Given the description of an element on the screen output the (x, y) to click on. 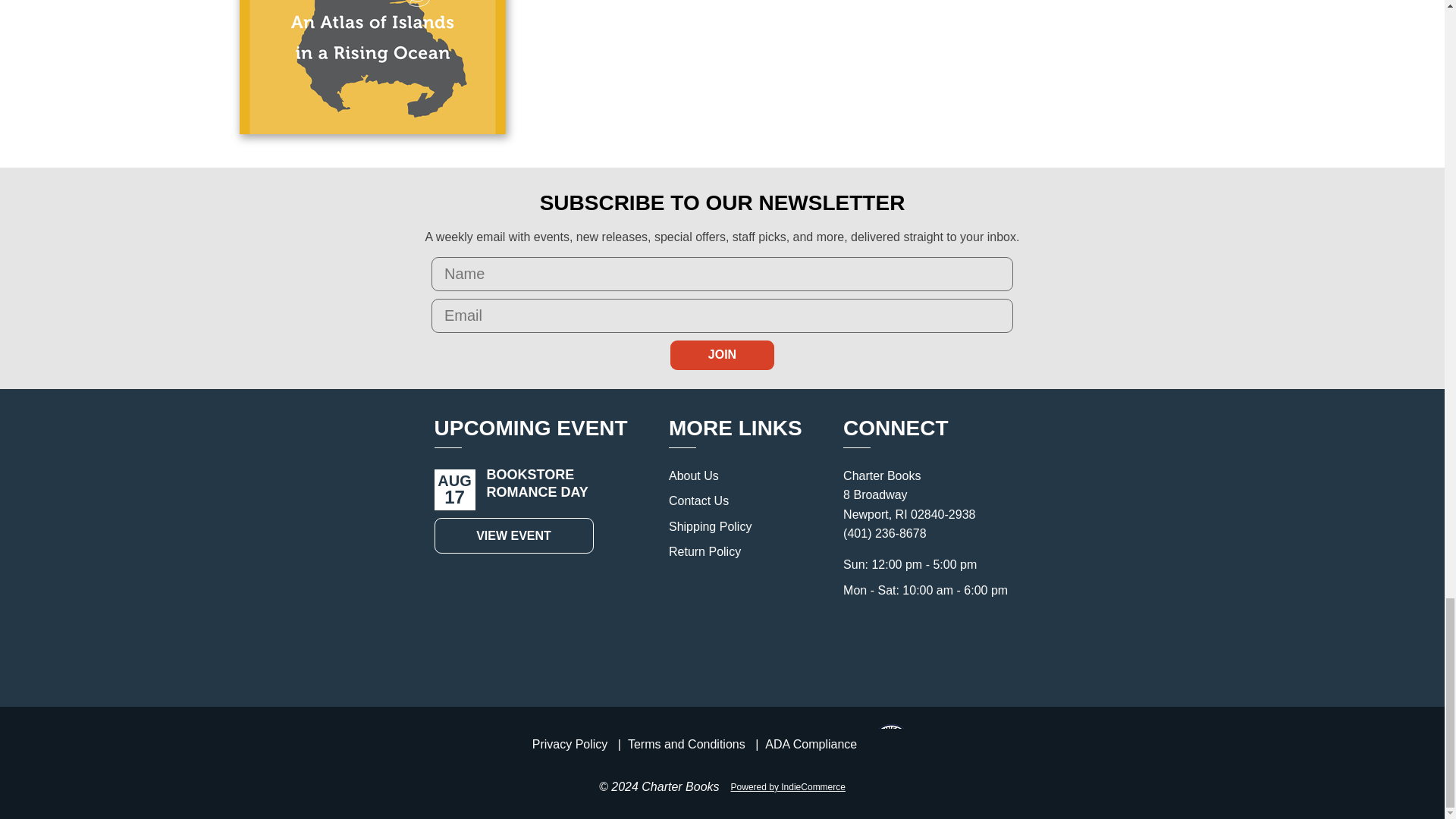
Connect with Tik Tok (976, 653)
Connect with Twitter (909, 653)
Join (721, 354)
Connect with Facebook (943, 653)
Connect with Instagram (876, 653)
